Given the description of an element on the screen output the (x, y) to click on. 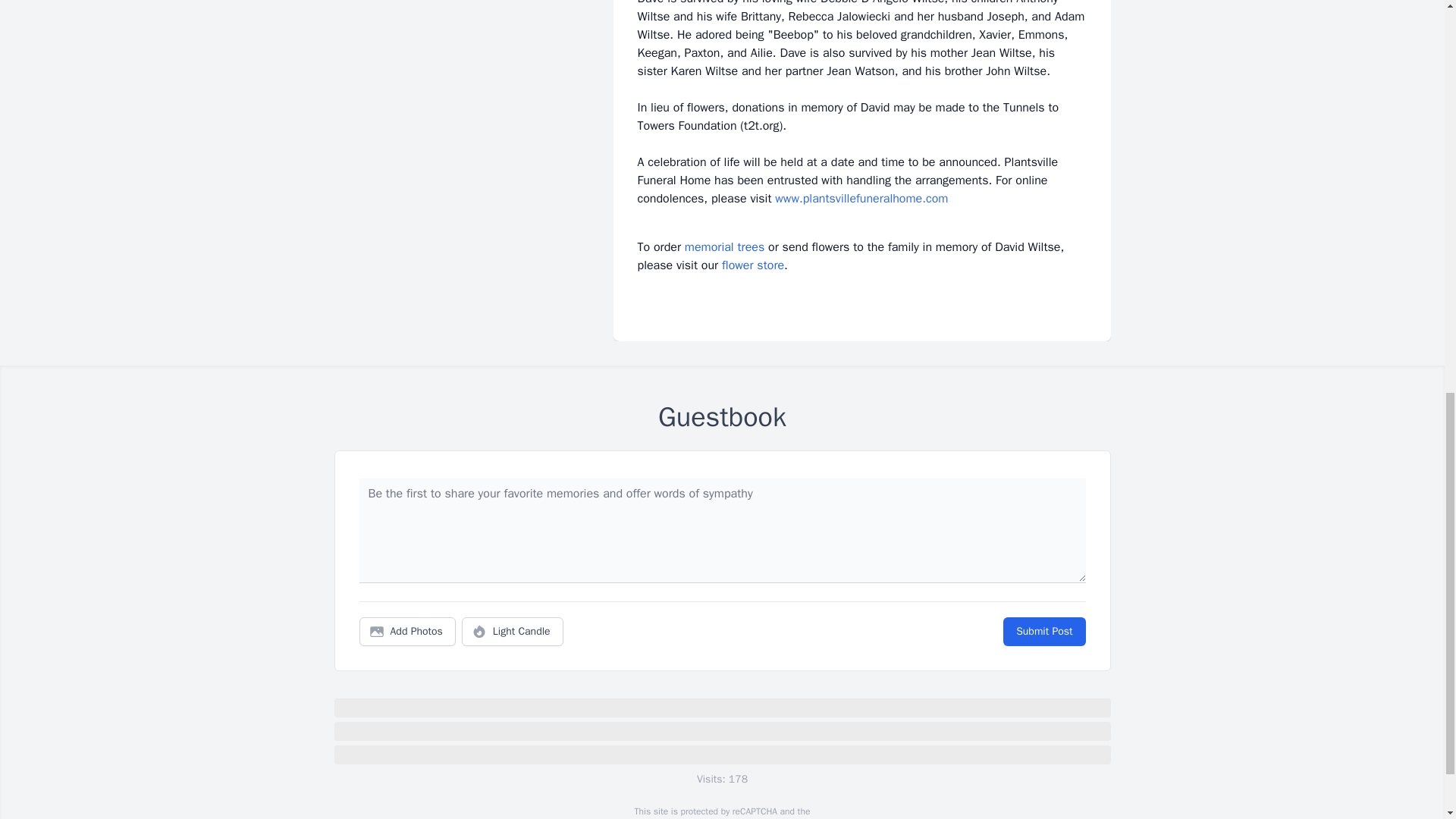
memorial trees (724, 246)
flower store (753, 264)
Terms of Service (759, 818)
Light Candle (512, 631)
Privacy Policy (679, 818)
Submit Post (1043, 631)
www.plantsvillefuneralhome.com (860, 198)
Add Photos (407, 631)
